Given the description of an element on the screen output the (x, y) to click on. 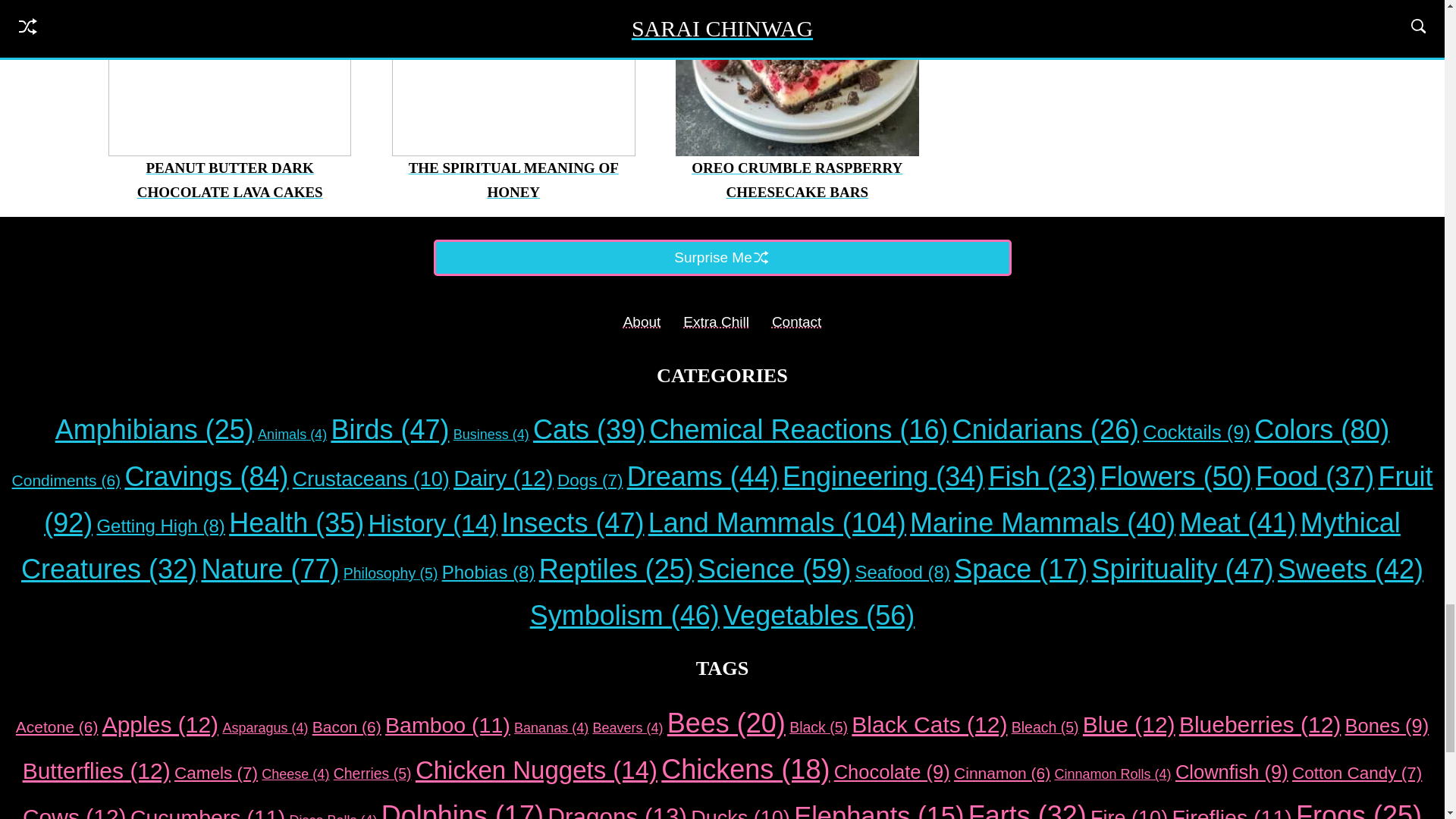
About (642, 321)
OREO CRUMBLE RASPBERRY CHEESECAKE BARS (796, 179)
THE SPIRITUAL MEANING OF HONEY (513, 179)
Contact (796, 321)
Extra Chill (715, 321)
Surprise Me (722, 257)
PEANUT BUTTER DARK CHOCOLATE LAVA CAKES (229, 179)
